Given the description of an element on the screen output the (x, y) to click on. 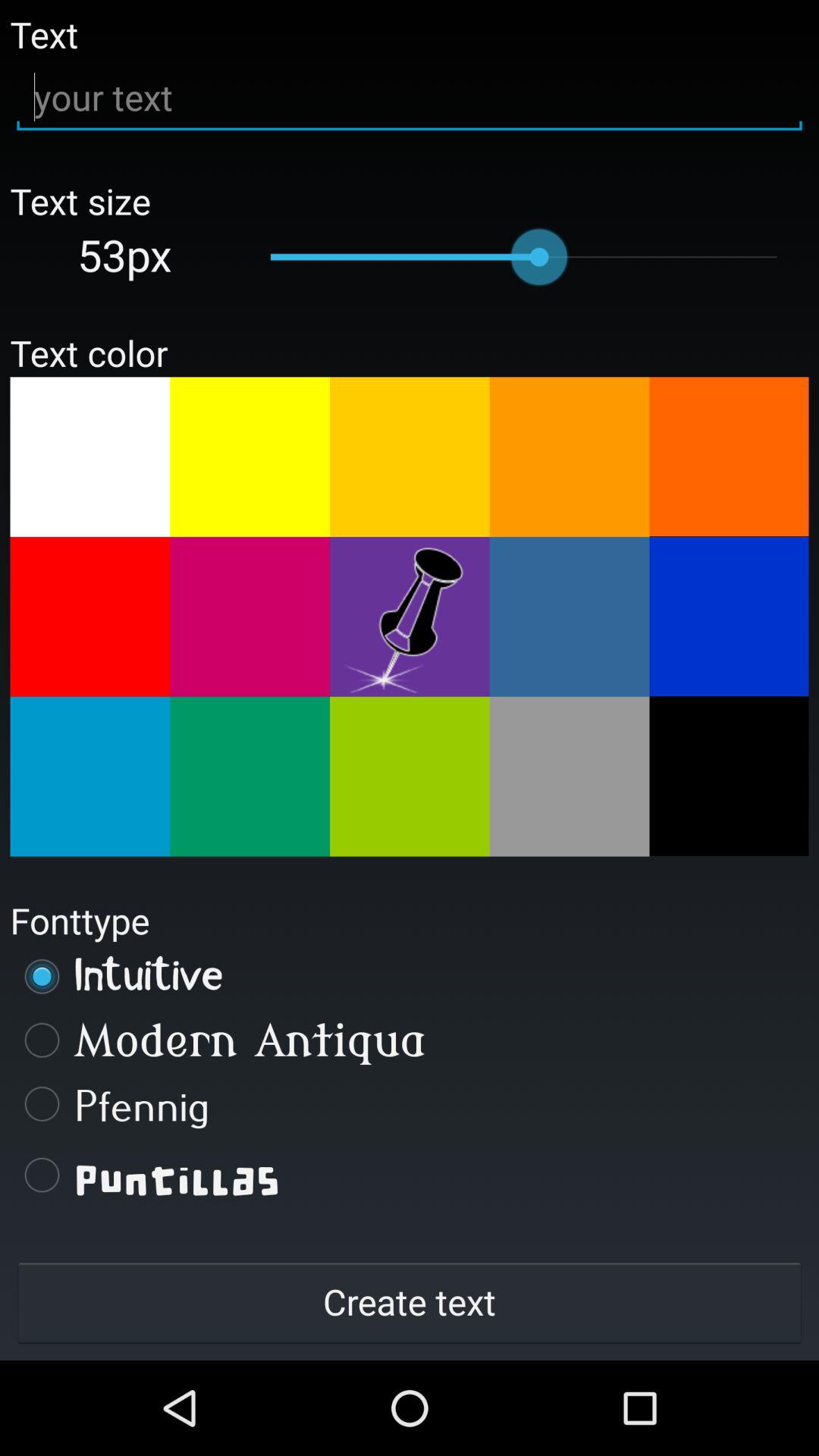
change text color to green (409, 776)
